Given the description of an element on the screen output the (x, y) to click on. 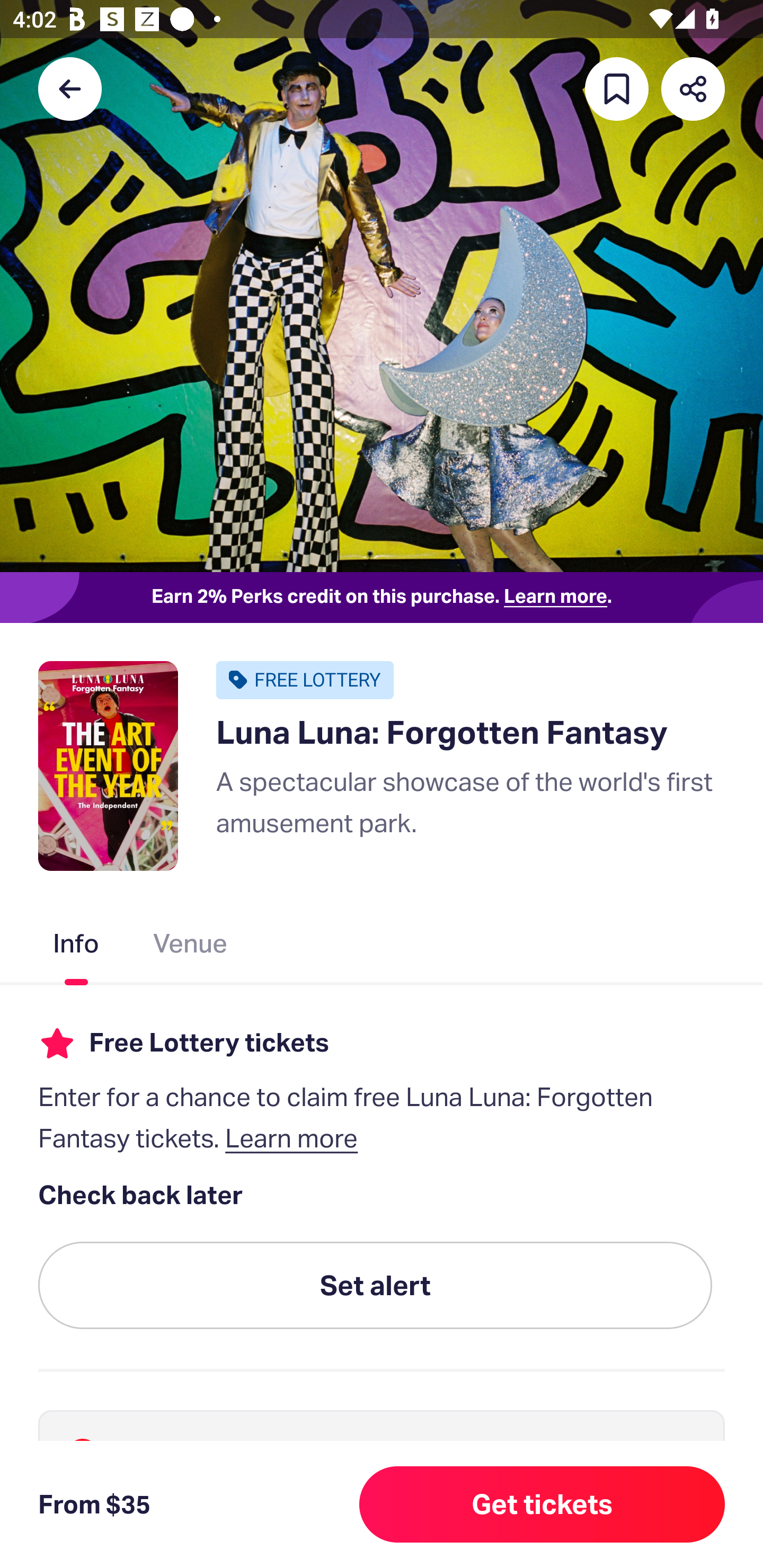
Earn 2% Perks credit on this purchase. Learn more. (381, 597)
Venue (190, 946)
Set alert (374, 1286)
Get tickets (541, 1504)
